Given the description of an element on the screen output the (x, y) to click on. 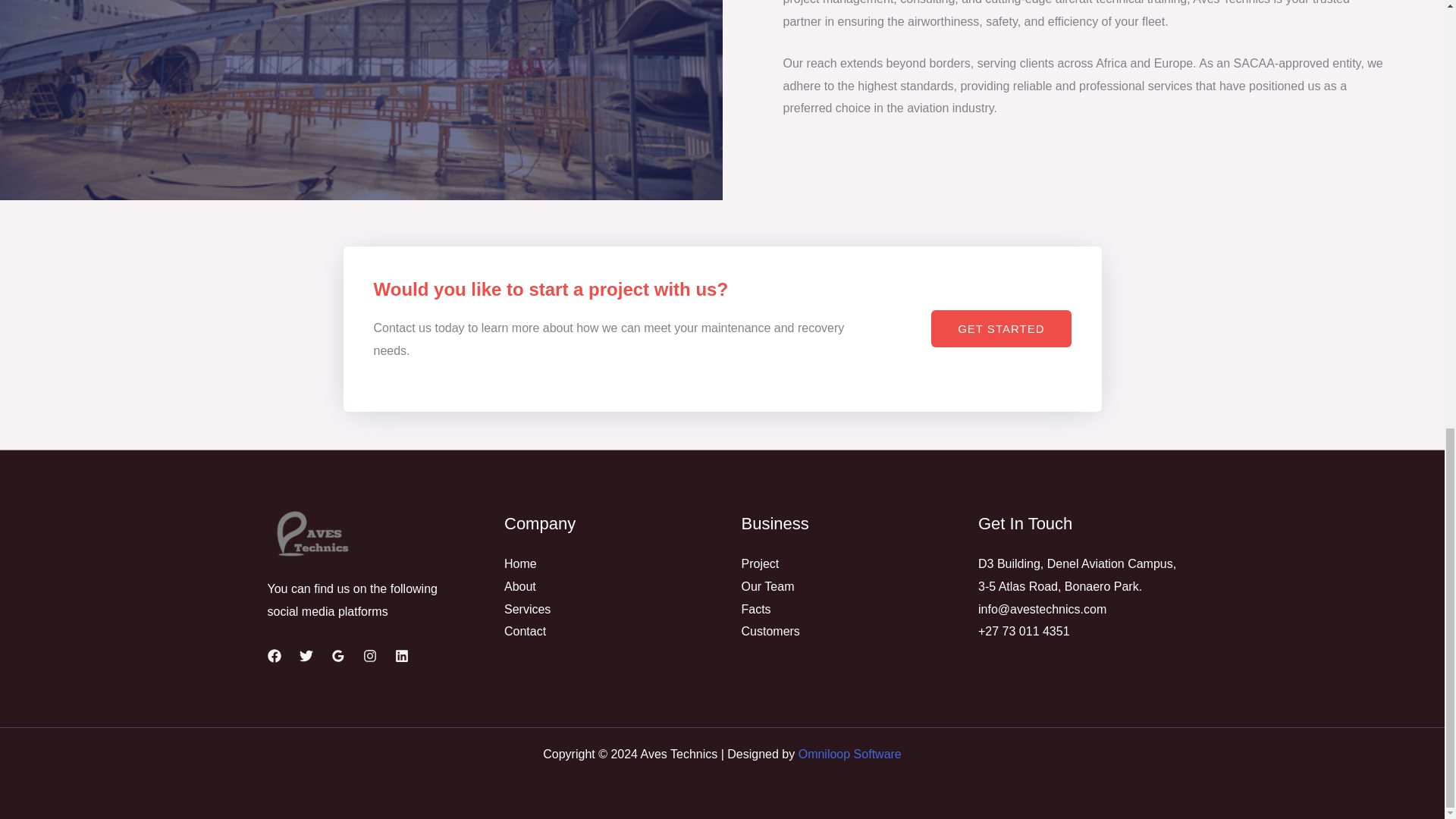
Contact (524, 631)
Customers (770, 631)
Our Team (767, 585)
About (519, 585)
Omniloop Software (849, 753)
Project (759, 563)
GET STARTED (1000, 328)
Services (526, 608)
Facts (756, 608)
Home (520, 563)
